Given the description of an element on the screen output the (x, y) to click on. 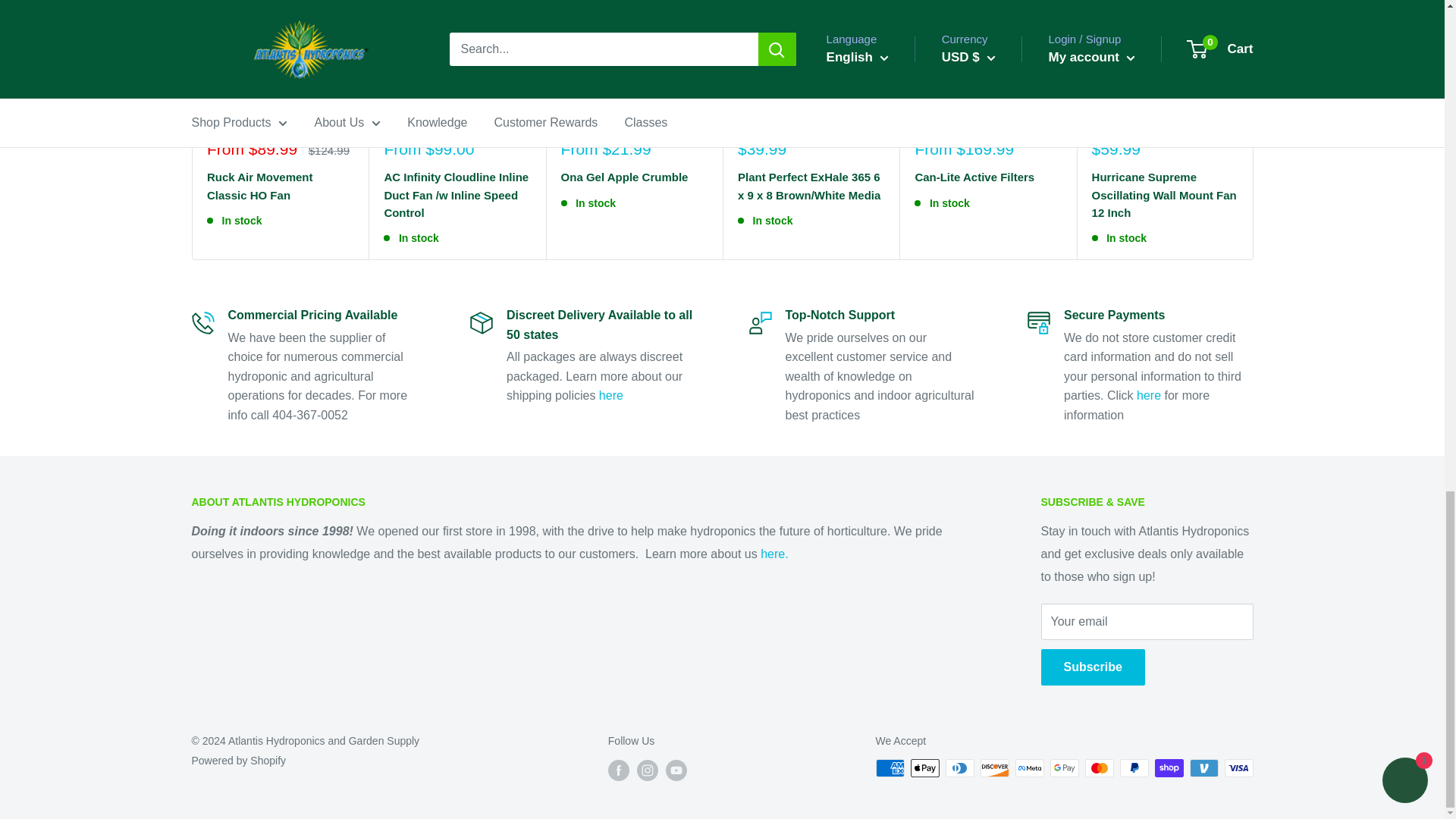
Privacy Policy (1148, 395)
About Us (773, 553)
